Given the description of an element on the screen output the (x, y) to click on. 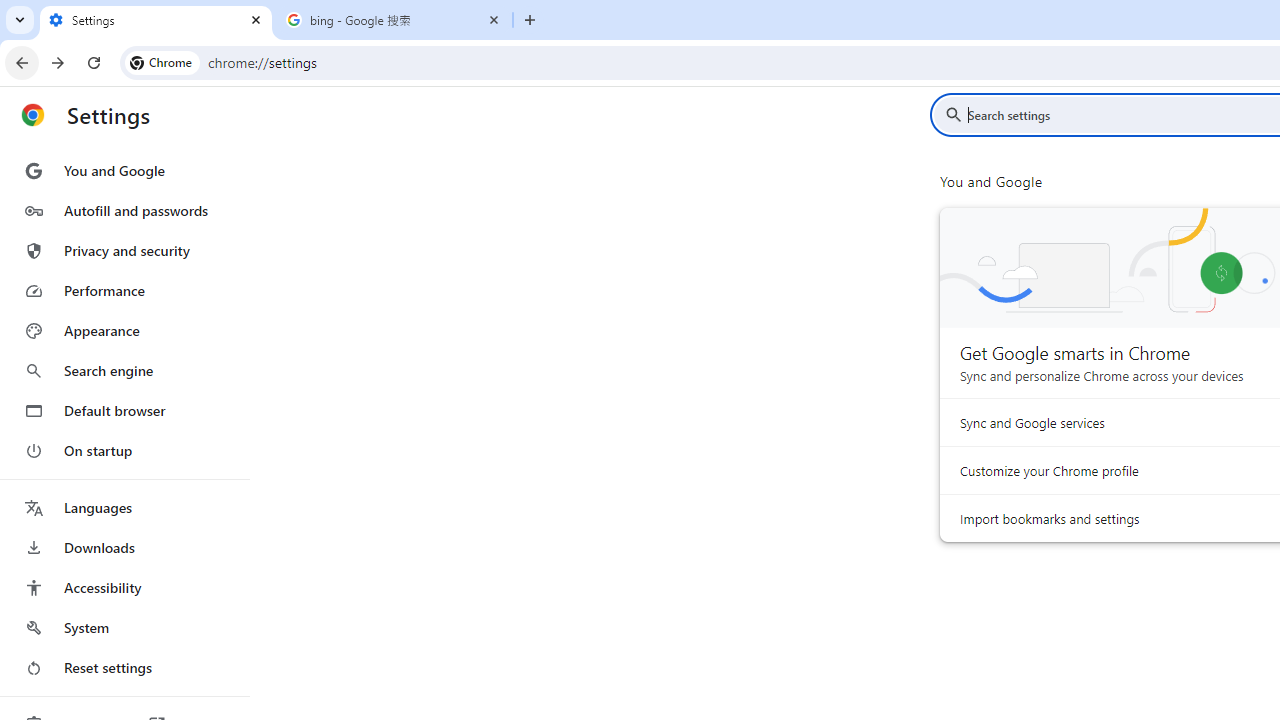
On startup (124, 450)
Accessibility (124, 587)
Default browser (124, 410)
Reset settings (124, 668)
Autofill and passwords (124, 210)
You and Google (124, 170)
Languages (124, 507)
Search engine (124, 370)
